Given the description of an element on the screen output the (x, y) to click on. 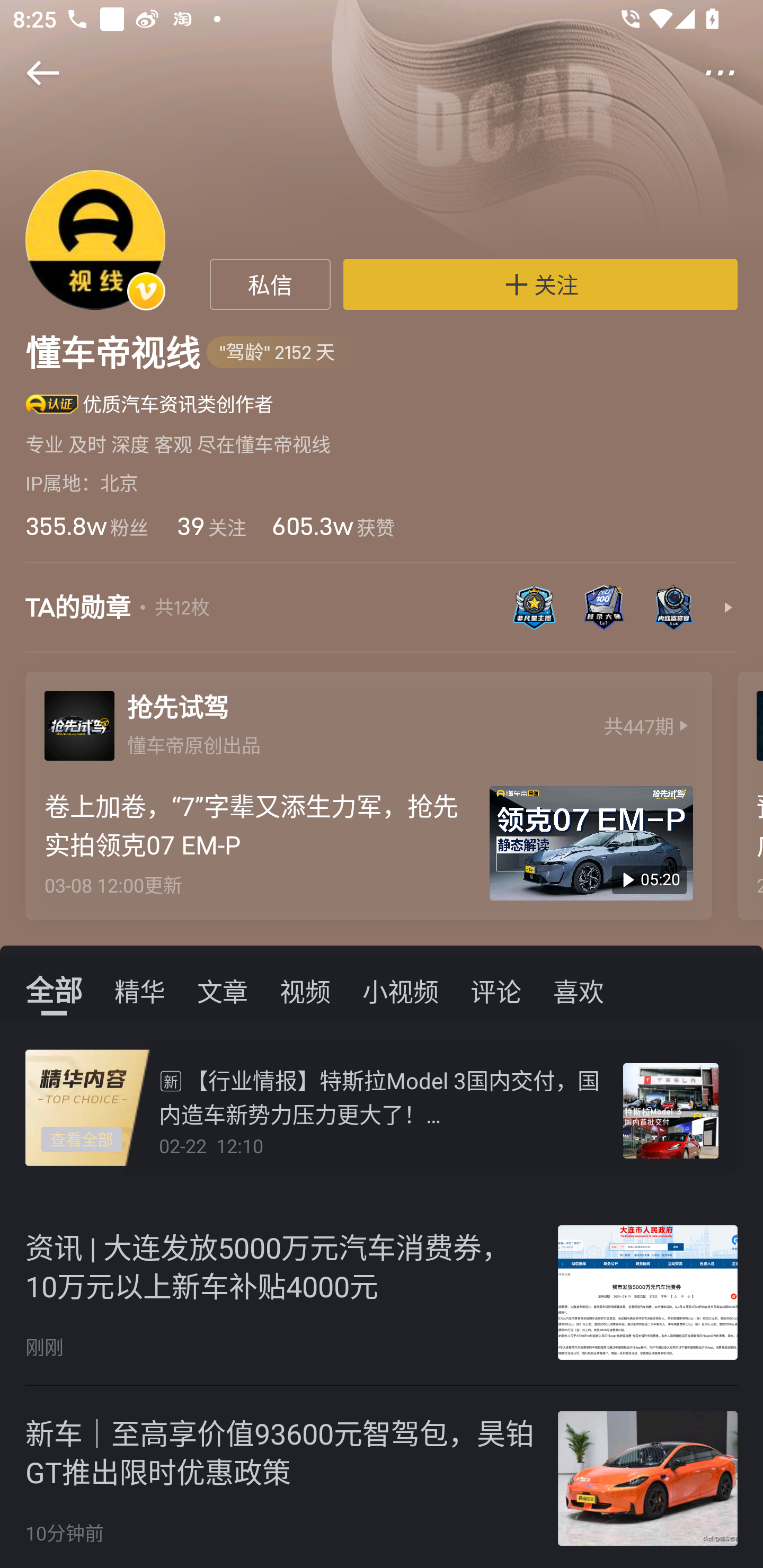
 (30, 72)
 (732, 72)
私信 (269, 284)
 关注 (540, 284)
"驾龄" 2152 天 (286, 352)
355.8w 粉丝 (86, 526)
39 关注 (209, 526)
605.3w 获赞 (332, 526)
TA的勋章 共12枚  (381, 616)
抢先试驾 懂车帝原创出品 共447期  (368, 722)
全部 (53, 990)
精华 (139, 990)
文章 (221, 990)
视频 (305, 990)
小视频 (400, 990)
评论 (495, 990)
喜欢 (578, 990)
查看全部 (81, 1139)
资讯 | 大连发放5000万元汽车消费券，10万元以上新车补贴4000元 刚刚 (381, 1292)
新车｜至高享价值93600元智驾包，昊铂GT推出限时优惠政策 10分钟前 (381, 1477)
